Given the description of an element on the screen output the (x, y) to click on. 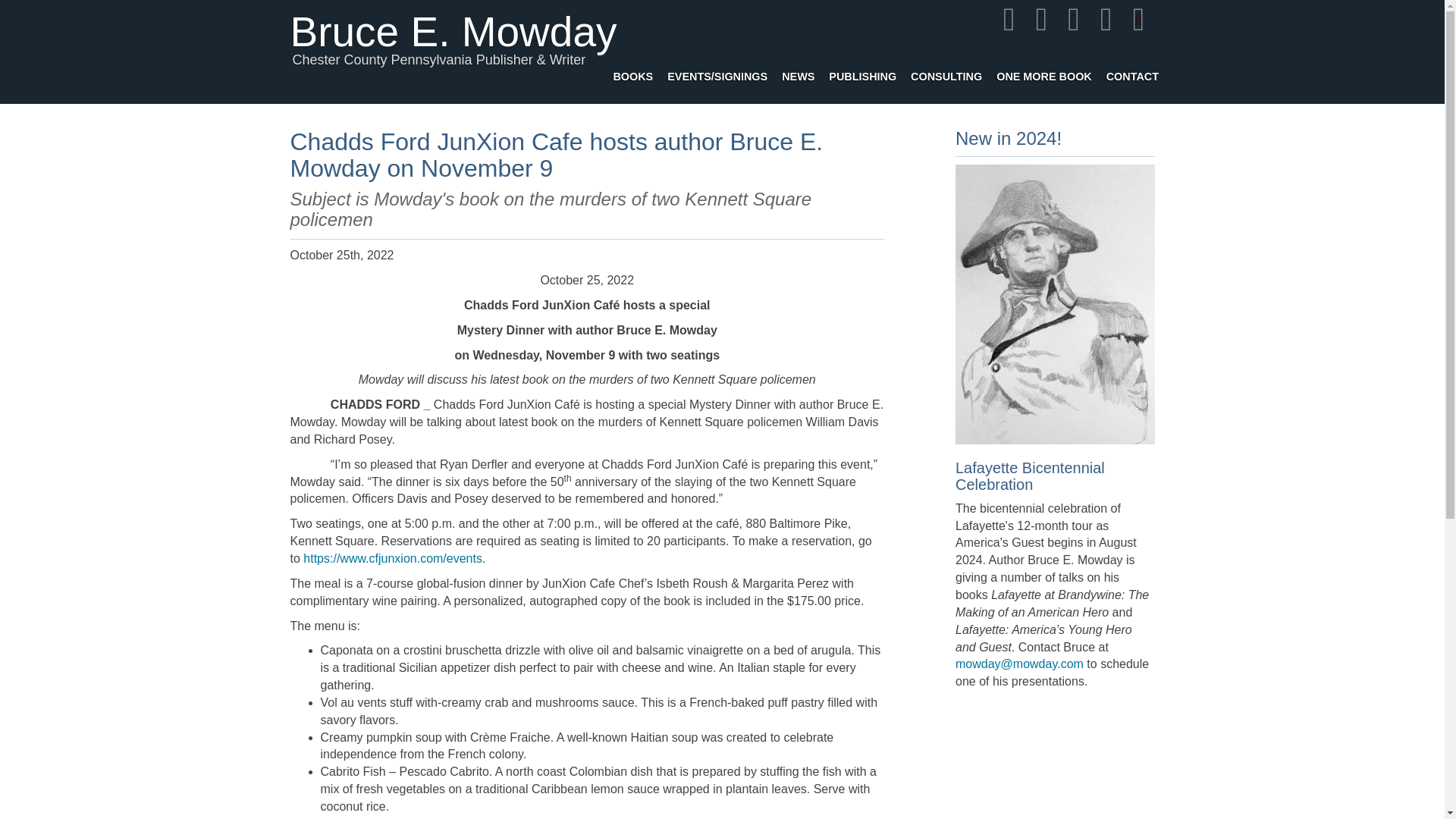
PUBLISHING (862, 66)
Share on Facebook (1008, 19)
Share on LinkedIn (1105, 19)
CONSULTING (946, 67)
Share on Twitter (1041, 19)
Share on Google (1074, 19)
CONTACT (1131, 71)
Bruce E. Mowday (452, 8)
ONE MORE BOOK (1043, 70)
